Given the description of an element on the screen output the (x, y) to click on. 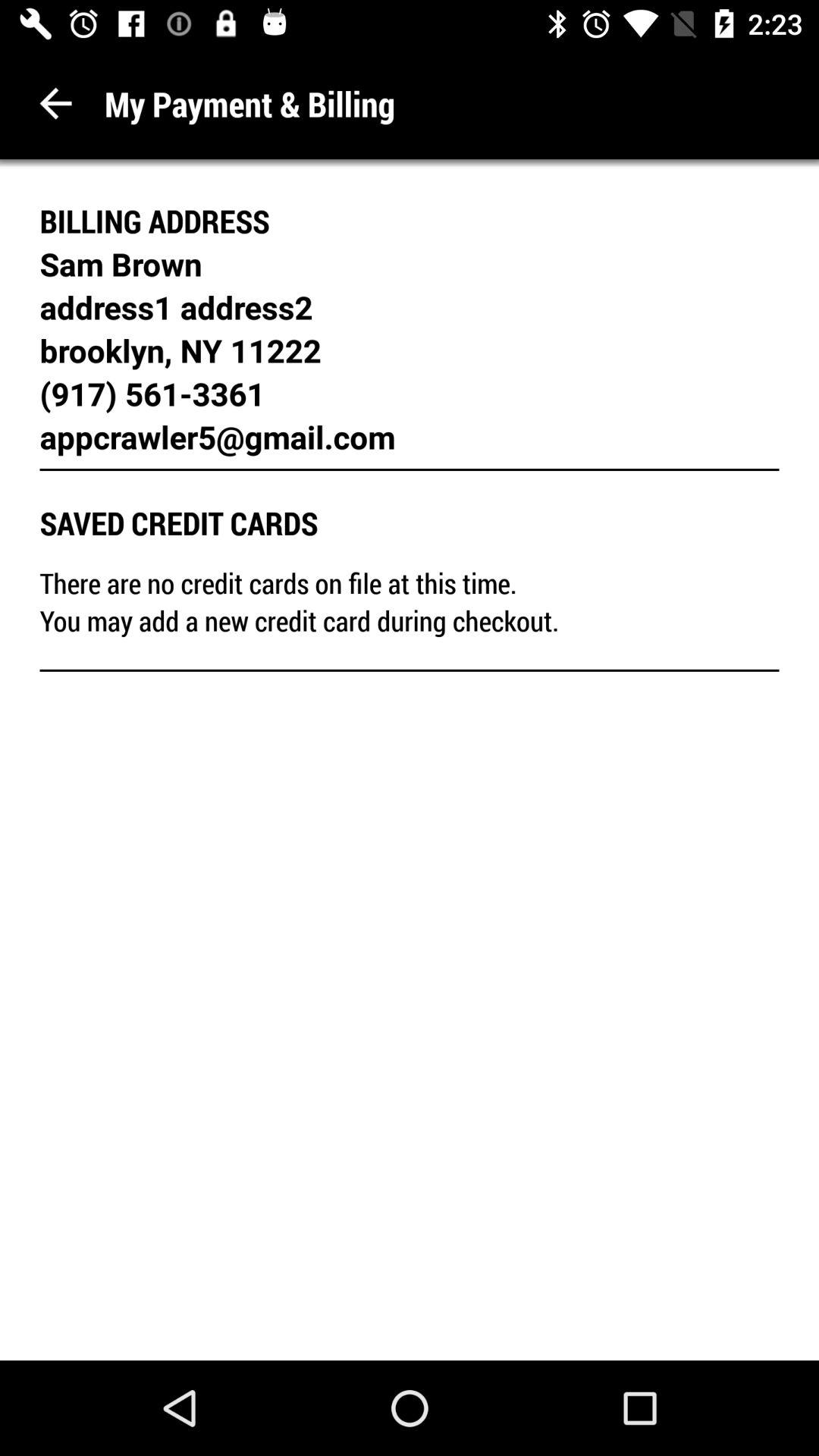
go back (55, 103)
